Given the description of an element on the screen output the (x, y) to click on. 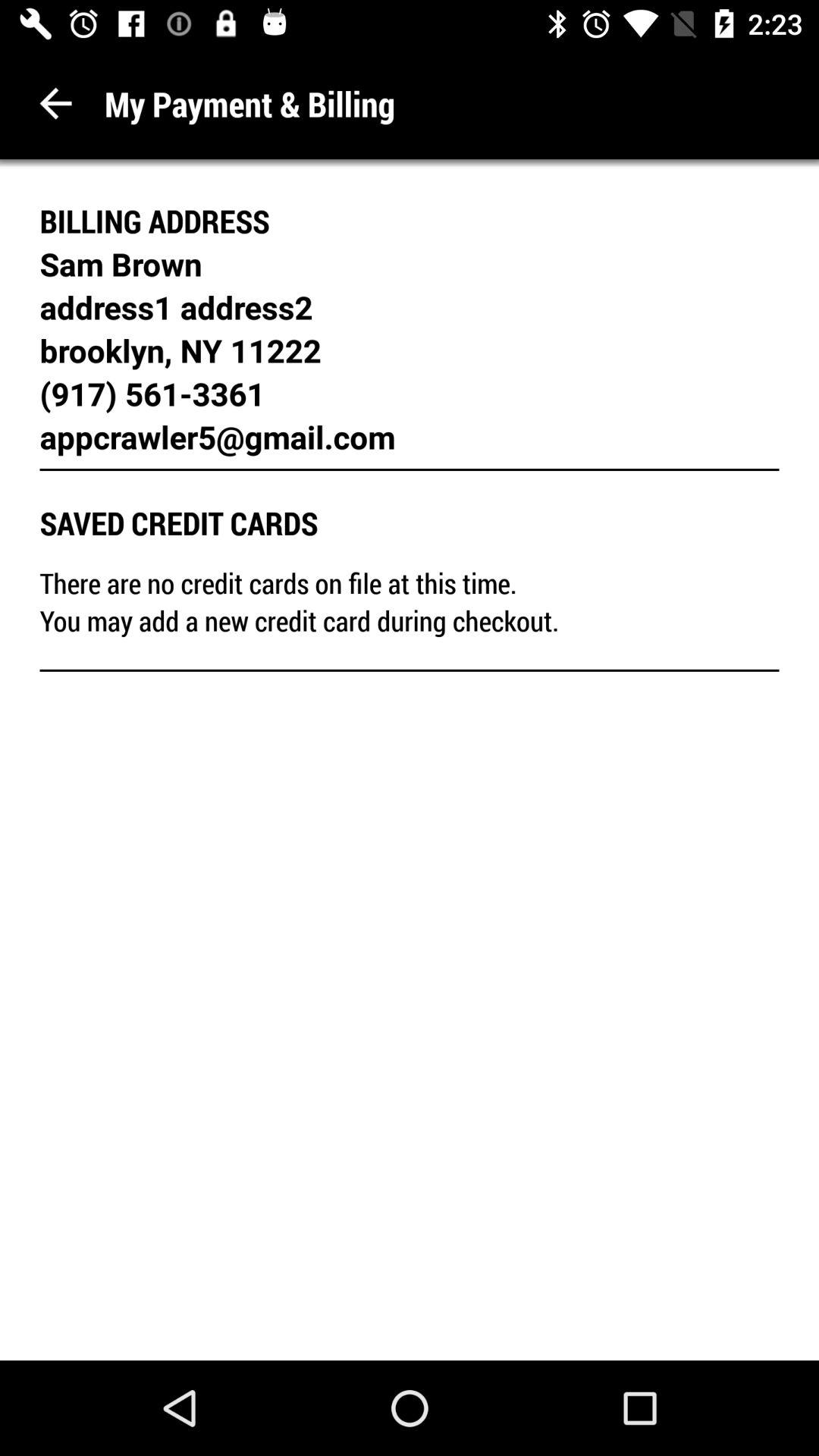
go back (55, 103)
